Given the description of an element on the screen output the (x, y) to click on. 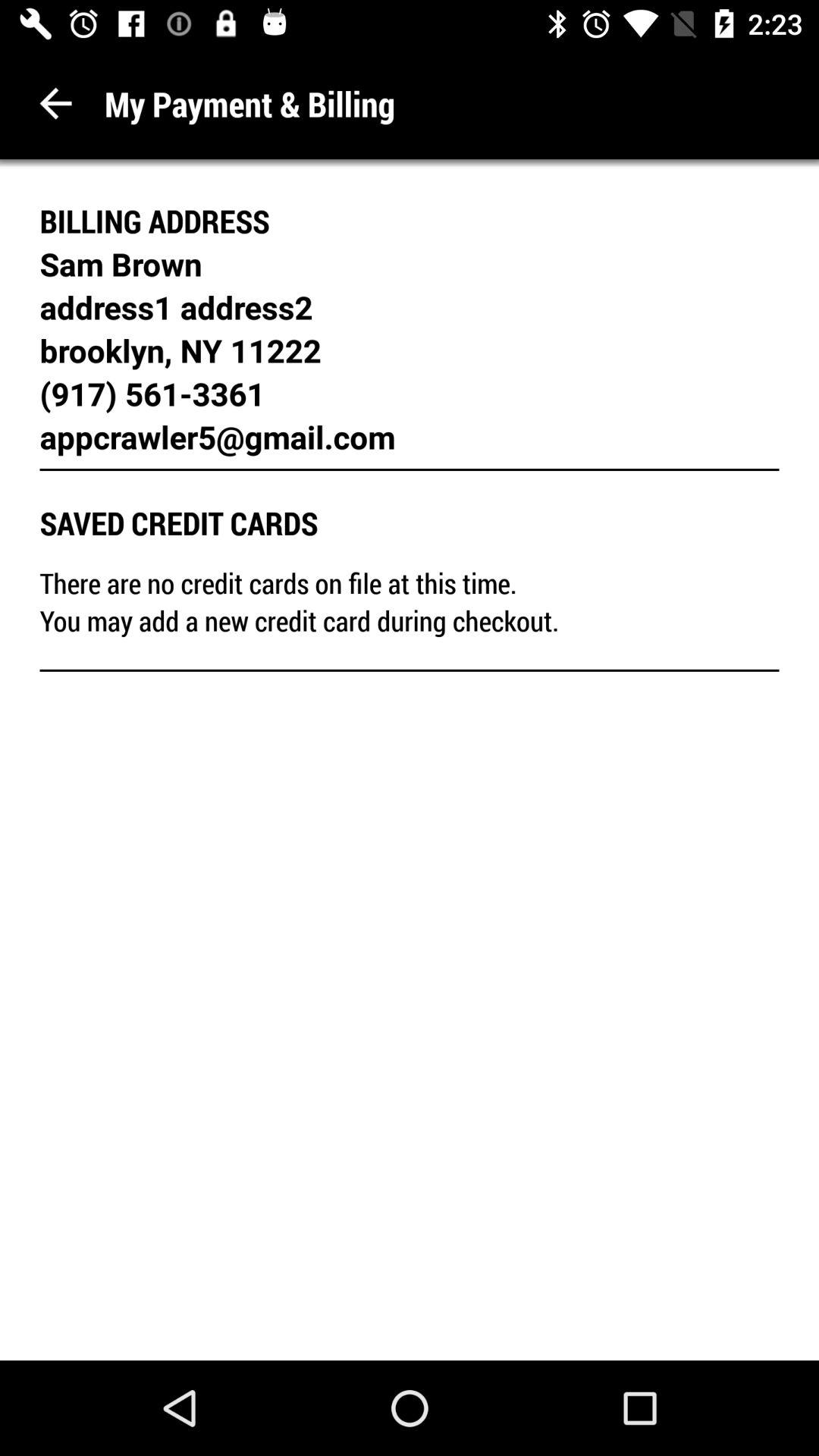
go back (55, 103)
